Given the description of an element on the screen output the (x, y) to click on. 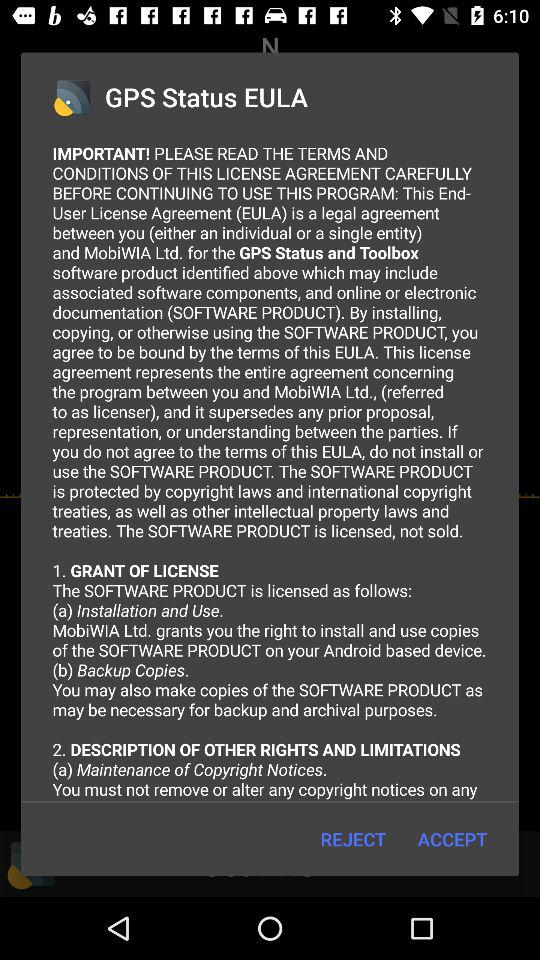
turn on icon below important please read icon (452, 838)
